Given the description of an element on the screen output the (x, y) to click on. 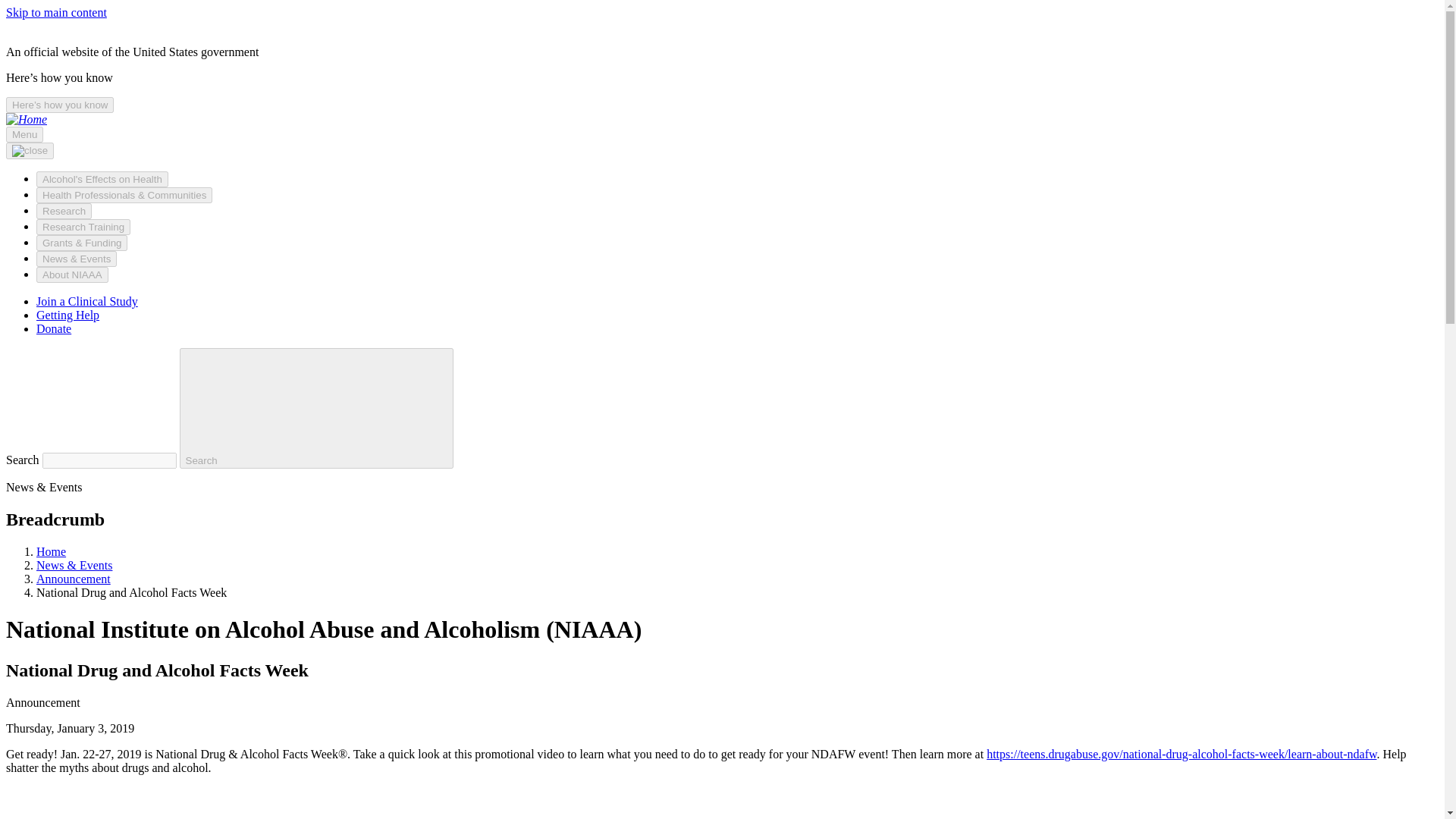
Getting Help (67, 314)
Home (25, 119)
Home (50, 551)
Alcohol's Effects on Health (102, 179)
Donate (53, 328)
Research (63, 211)
Join a Clinical Study (87, 300)
Announcement (73, 578)
Research Training (83, 227)
Skip to main content (55, 11)
